Given the description of an element on the screen output the (x, y) to click on. 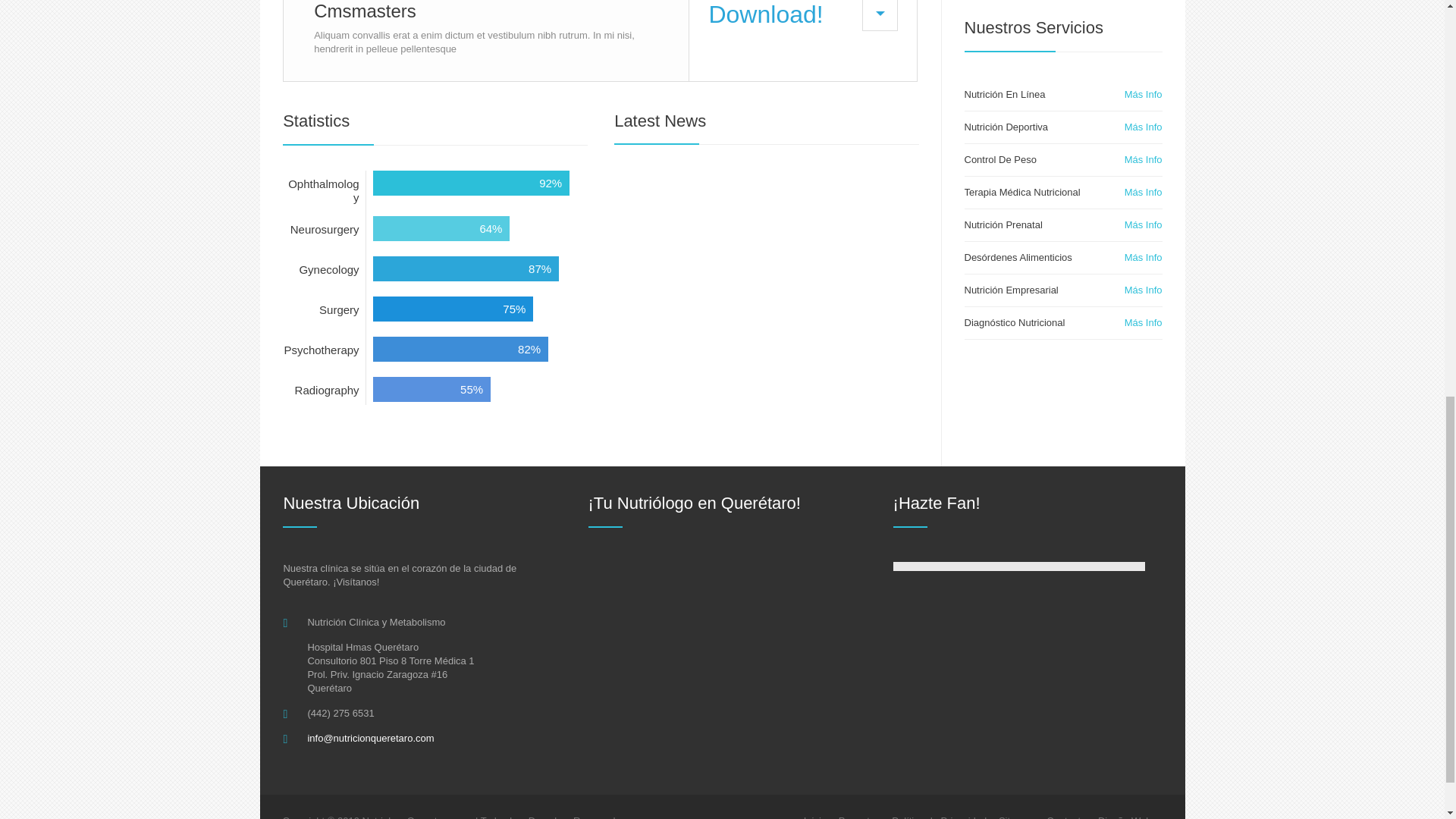
Download! (802, 40)
Download! (802, 40)
